Given the description of an element on the screen output the (x, y) to click on. 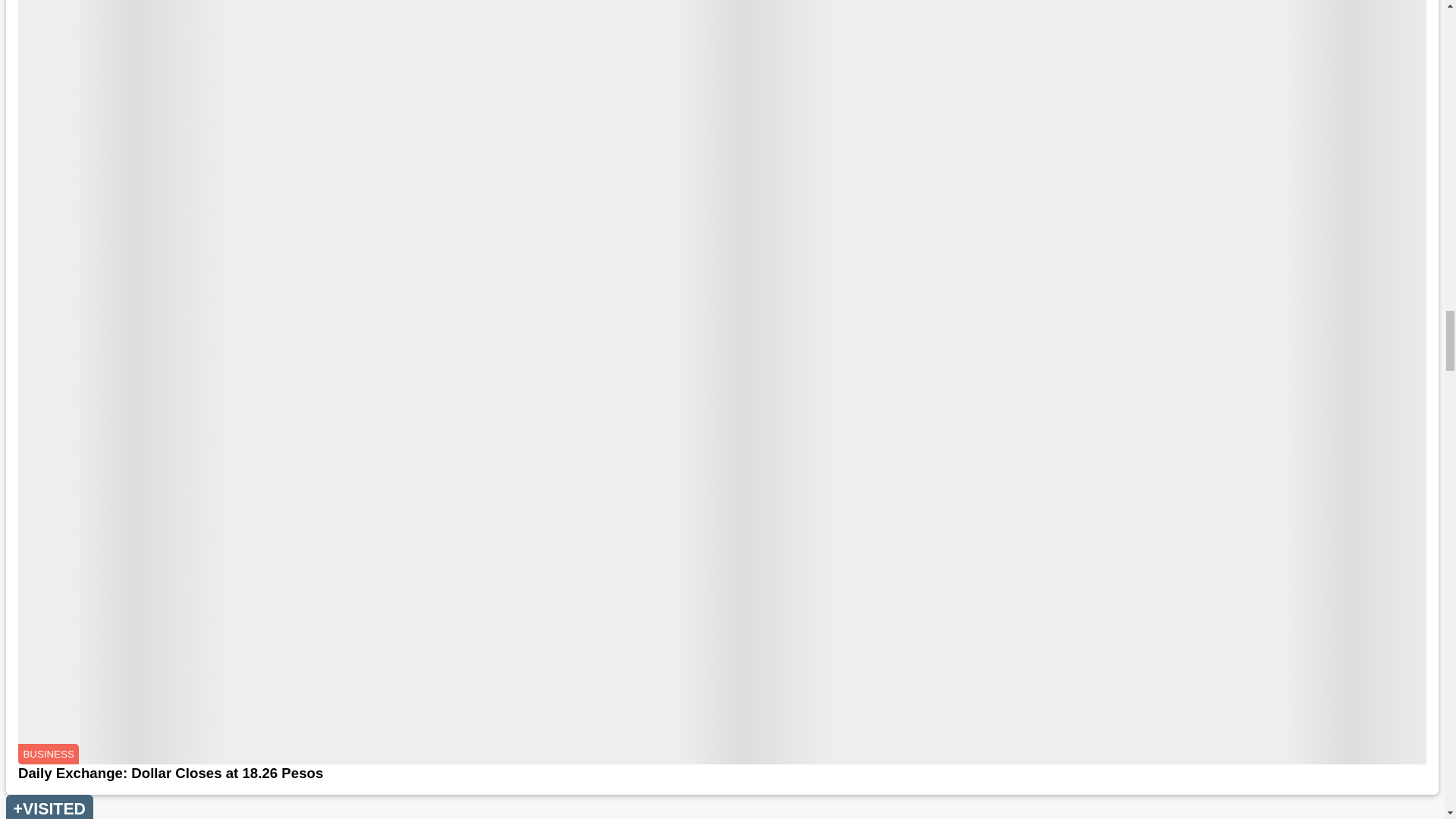
BUSINESS (47, 753)
Daily Exchange: Dollar Closes at 18.26 Pesos (721, 773)
